Given the description of an element on the screen output the (x, y) to click on. 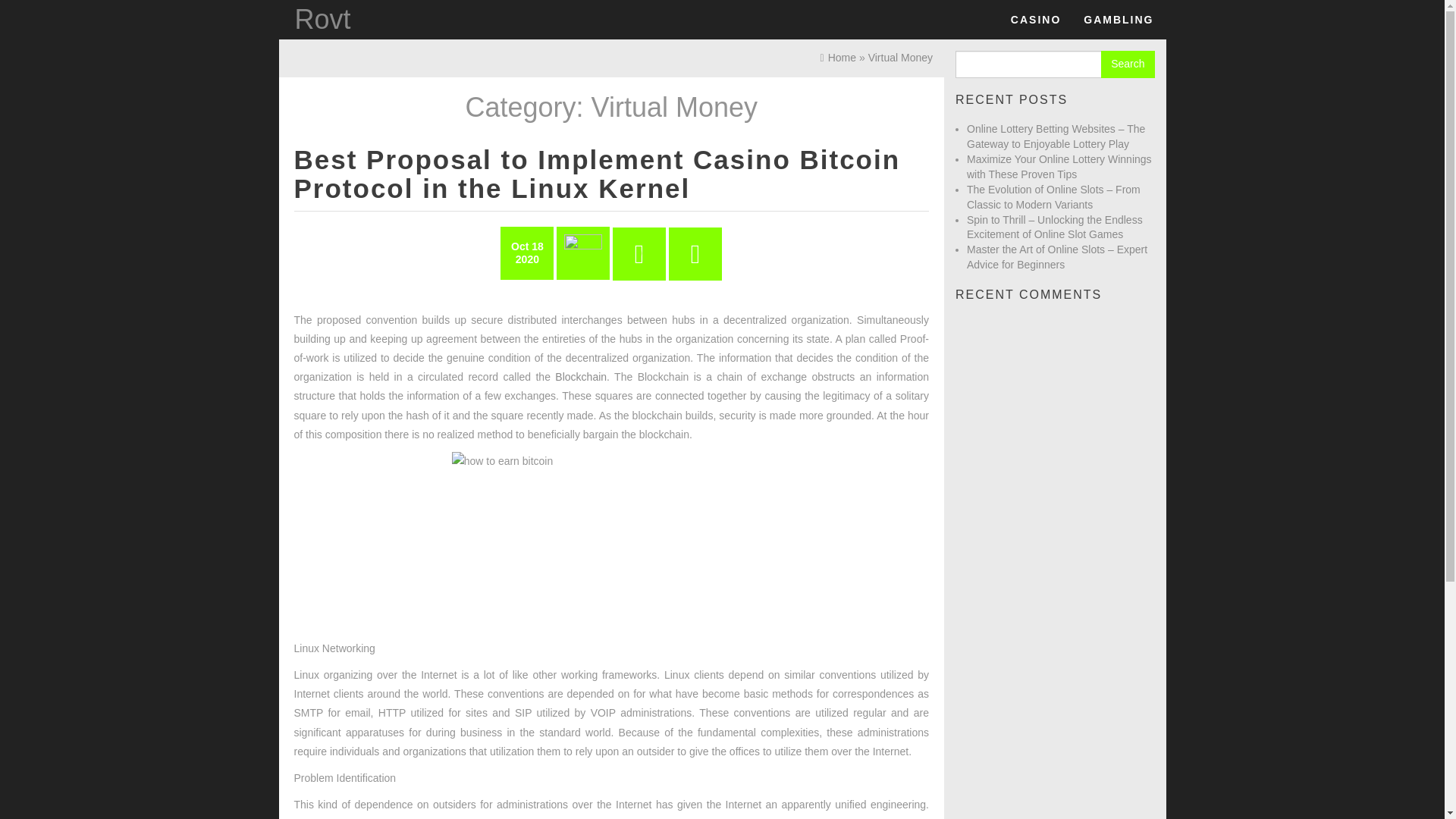
CASINO (1034, 19)
Gambling (1117, 19)
Rovt (322, 19)
Blockchain (580, 377)
Maximize Your Online Lottery Winnings with These Proven Tips (1058, 166)
Search (1127, 63)
Home (838, 57)
Search (1127, 63)
Virtual Money (900, 57)
